Given the description of an element on the screen output the (x, y) to click on. 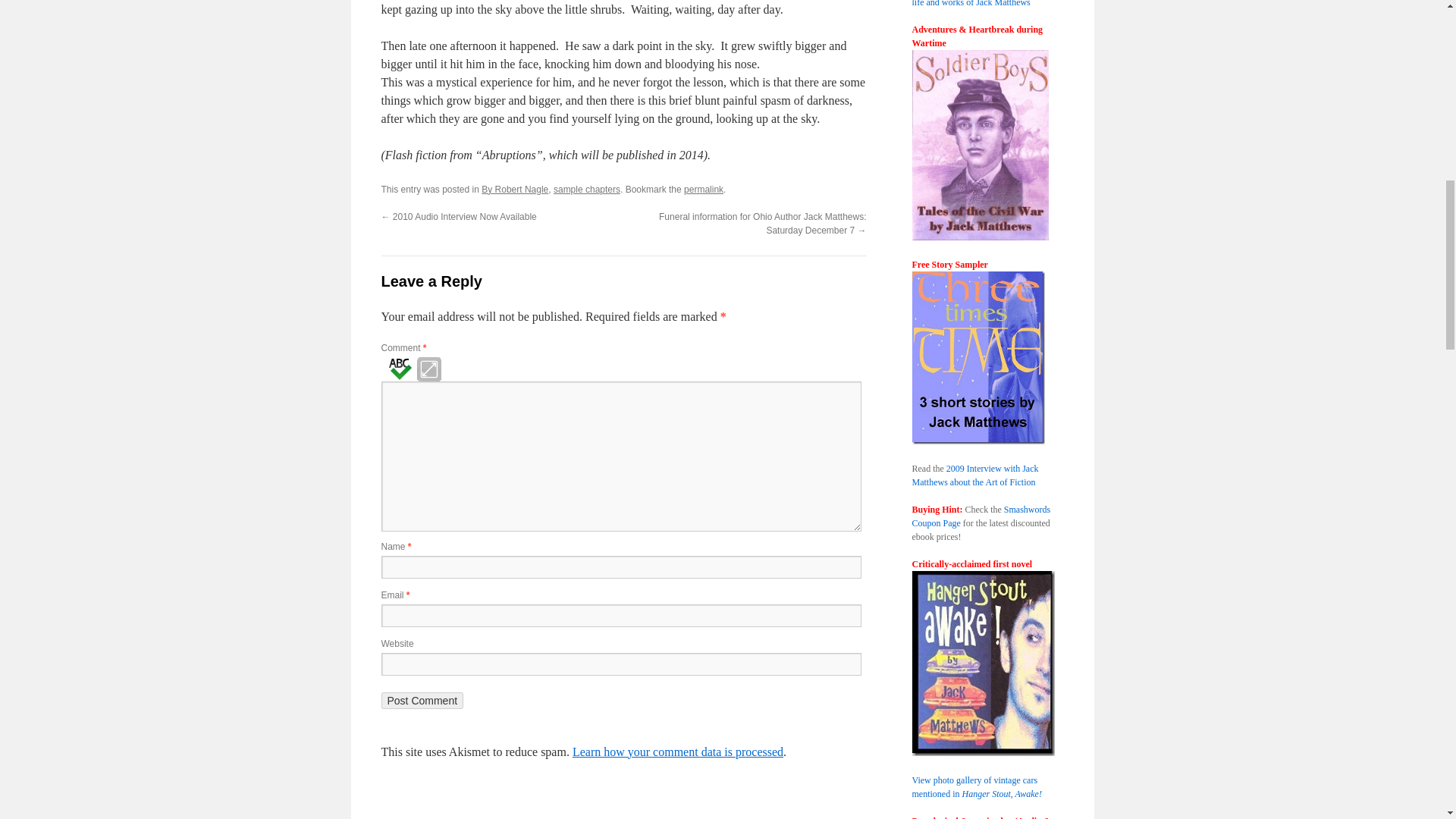
sample chapters (586, 189)
2009 Interview with Jack Matthews about the Art of Fiction (974, 475)
Post Comment (421, 700)
Learn how your comment data is processed (677, 751)
Post Comment (421, 700)
permalink (703, 189)
Smashwords Coupon Page (980, 516)
By Robert Nagle (514, 189)
